Given the description of an element on the screen output the (x, y) to click on. 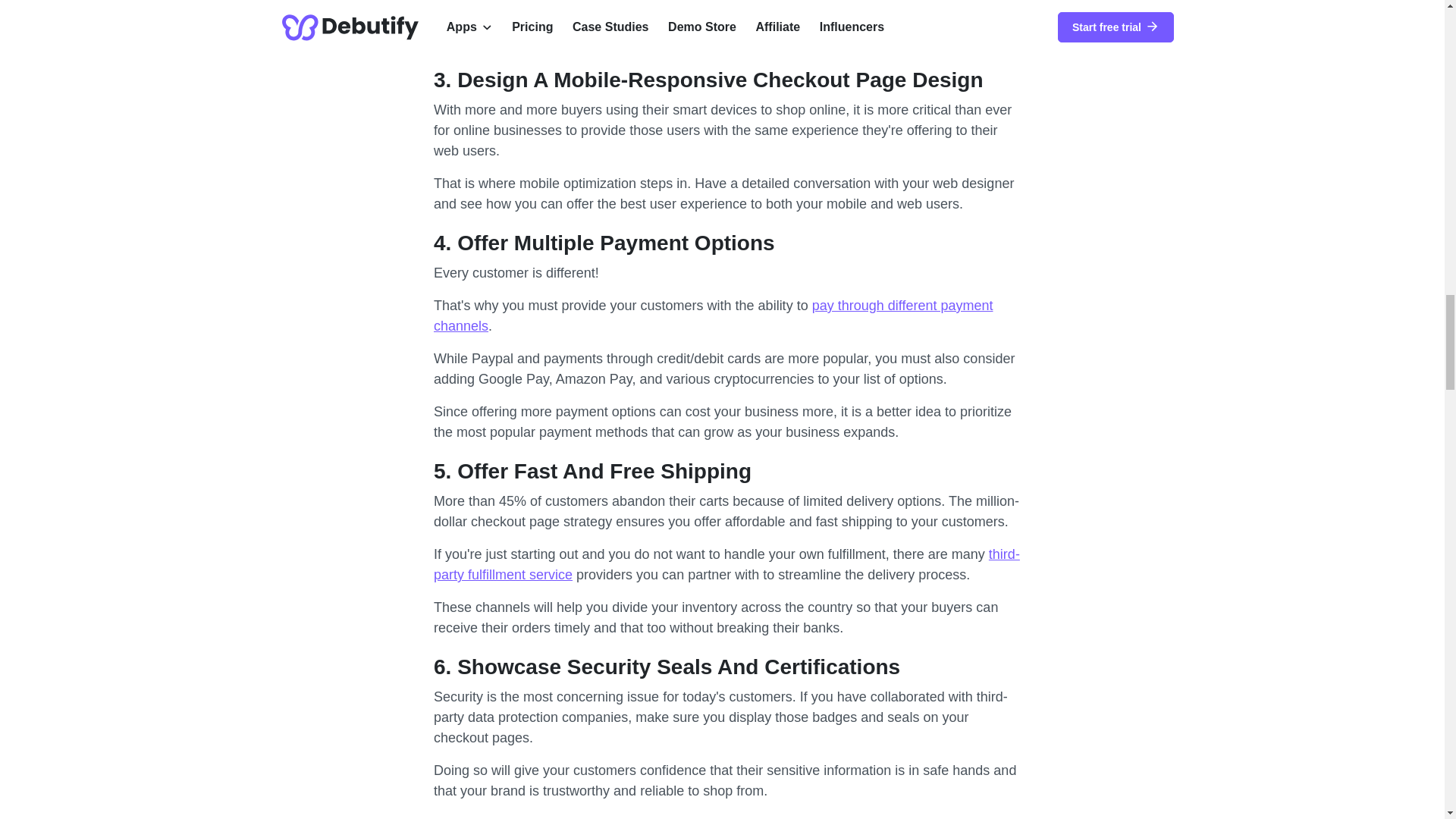
third-party fulfillment service (726, 564)
pay through different payment channels (712, 315)
